Given the description of an element on the screen output the (x, y) to click on. 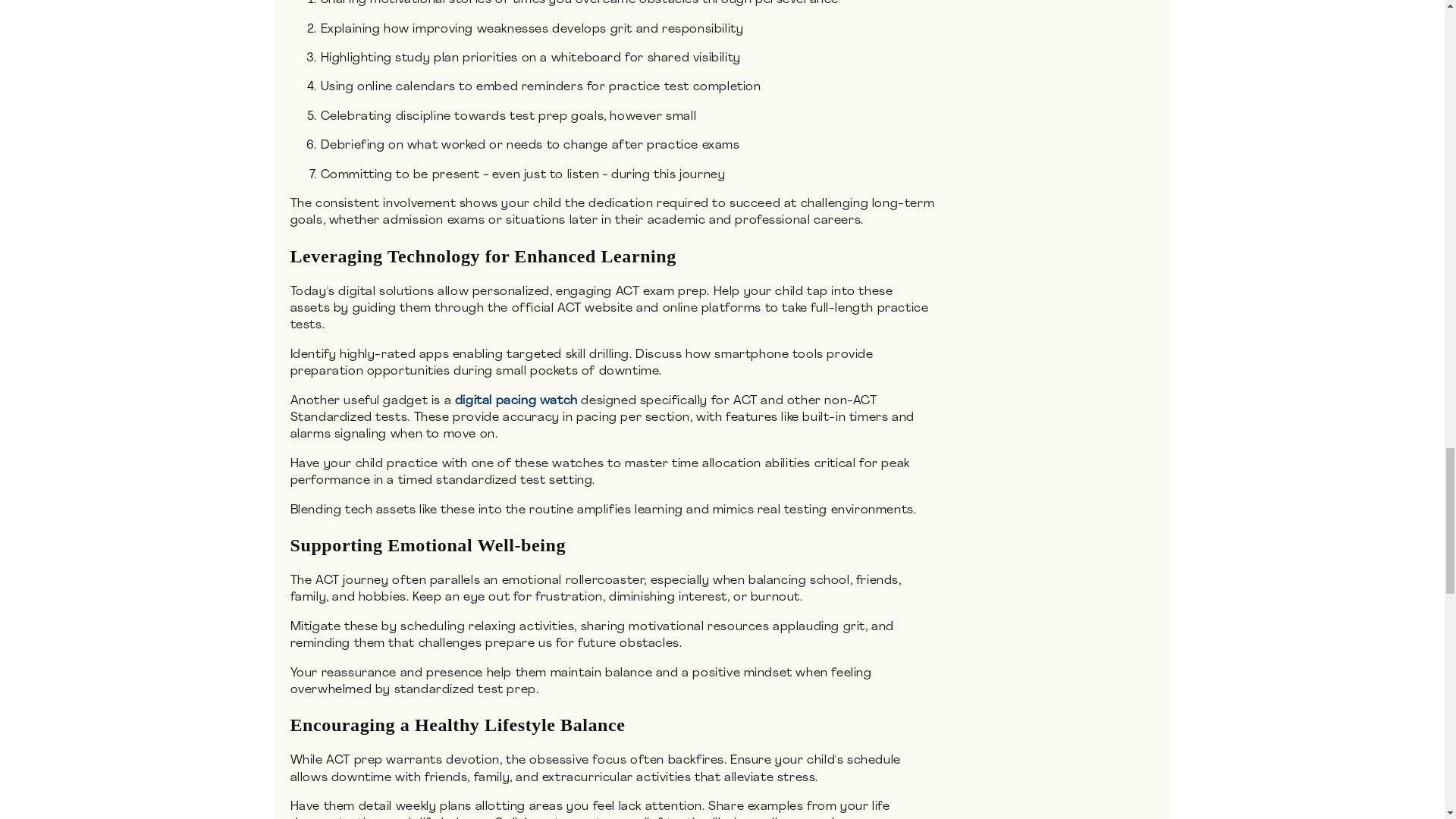
digital pacing watch (516, 400)
